Given the description of an element on the screen output the (x, y) to click on. 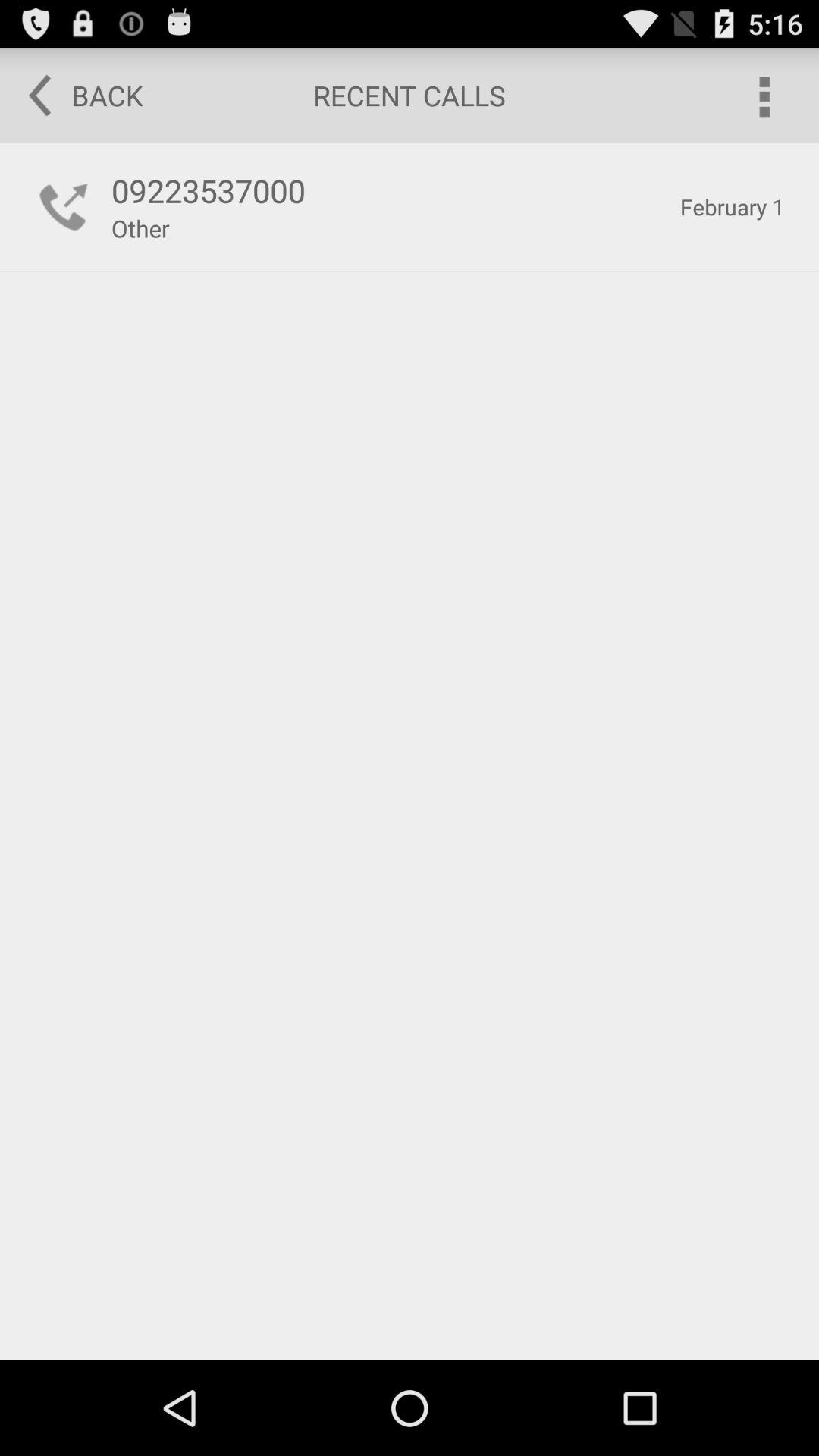
open menu (763, 95)
